Given the description of an element on the screen output the (x, y) to click on. 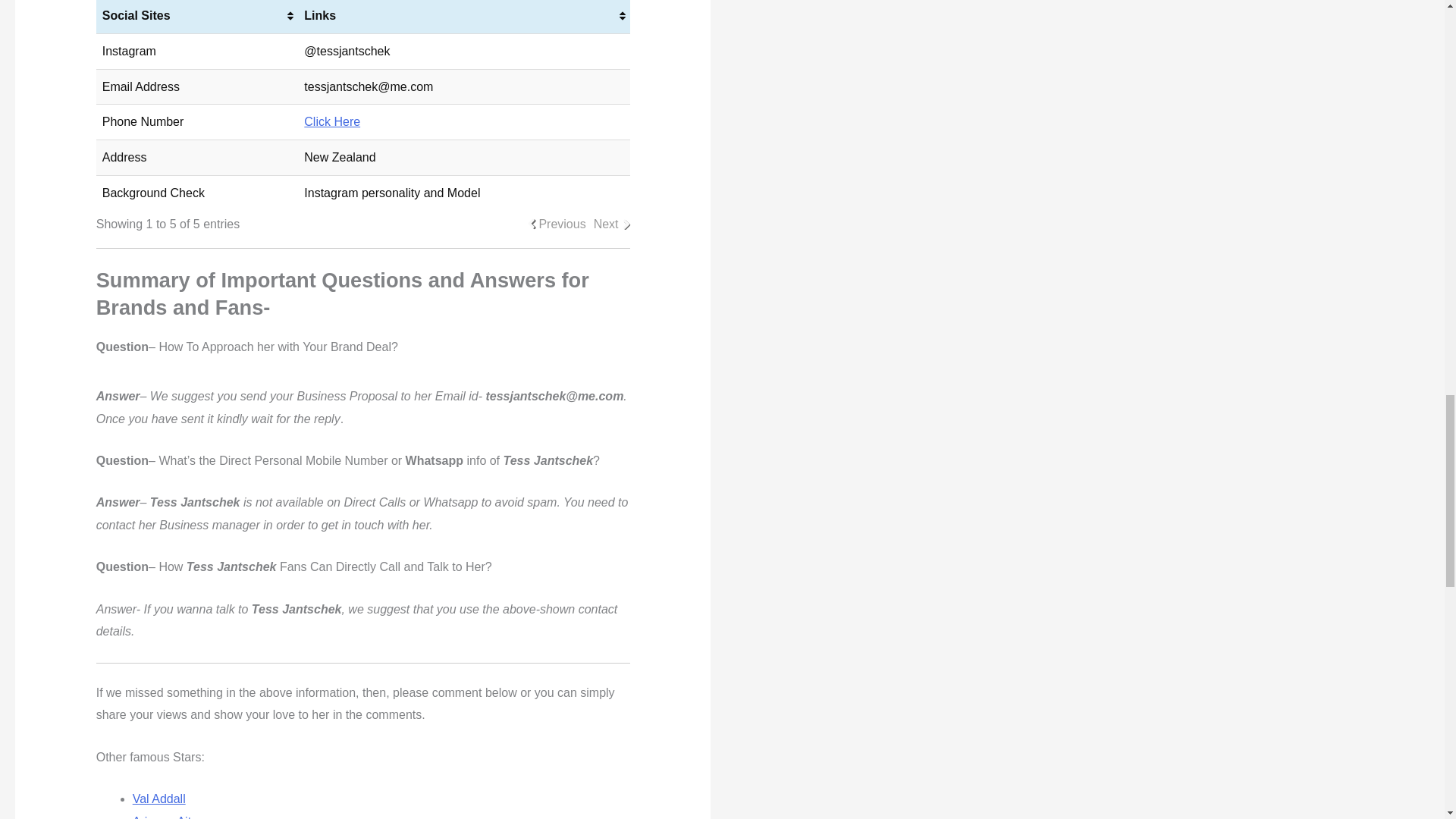
Previous (561, 223)
Val Addall (159, 798)
Click Here (331, 121)
Arianna Ajtar (167, 816)
Next (606, 223)
